Given the description of an element on the screen output the (x, y) to click on. 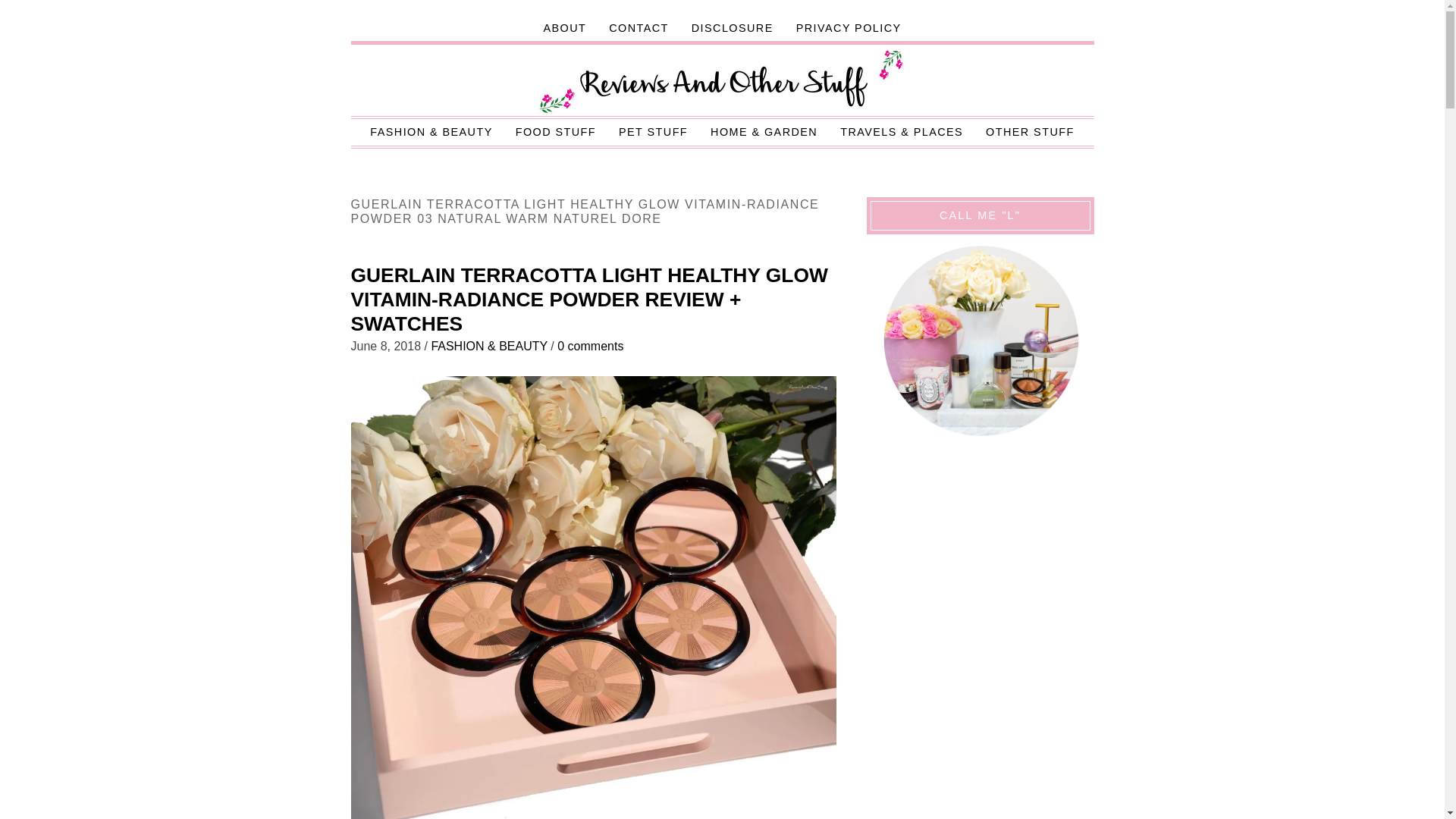
ABOUT (563, 27)
Reviews and Other Stuff (722, 81)
DISCLOSURE (731, 27)
CONTACT (637, 27)
0 comments (590, 345)
PRIVACY POLICY (848, 27)
OTHER STUFF (1030, 131)
FOOD STUFF (555, 131)
PET STUFF (652, 131)
